Given the description of an element on the screen output the (x, y) to click on. 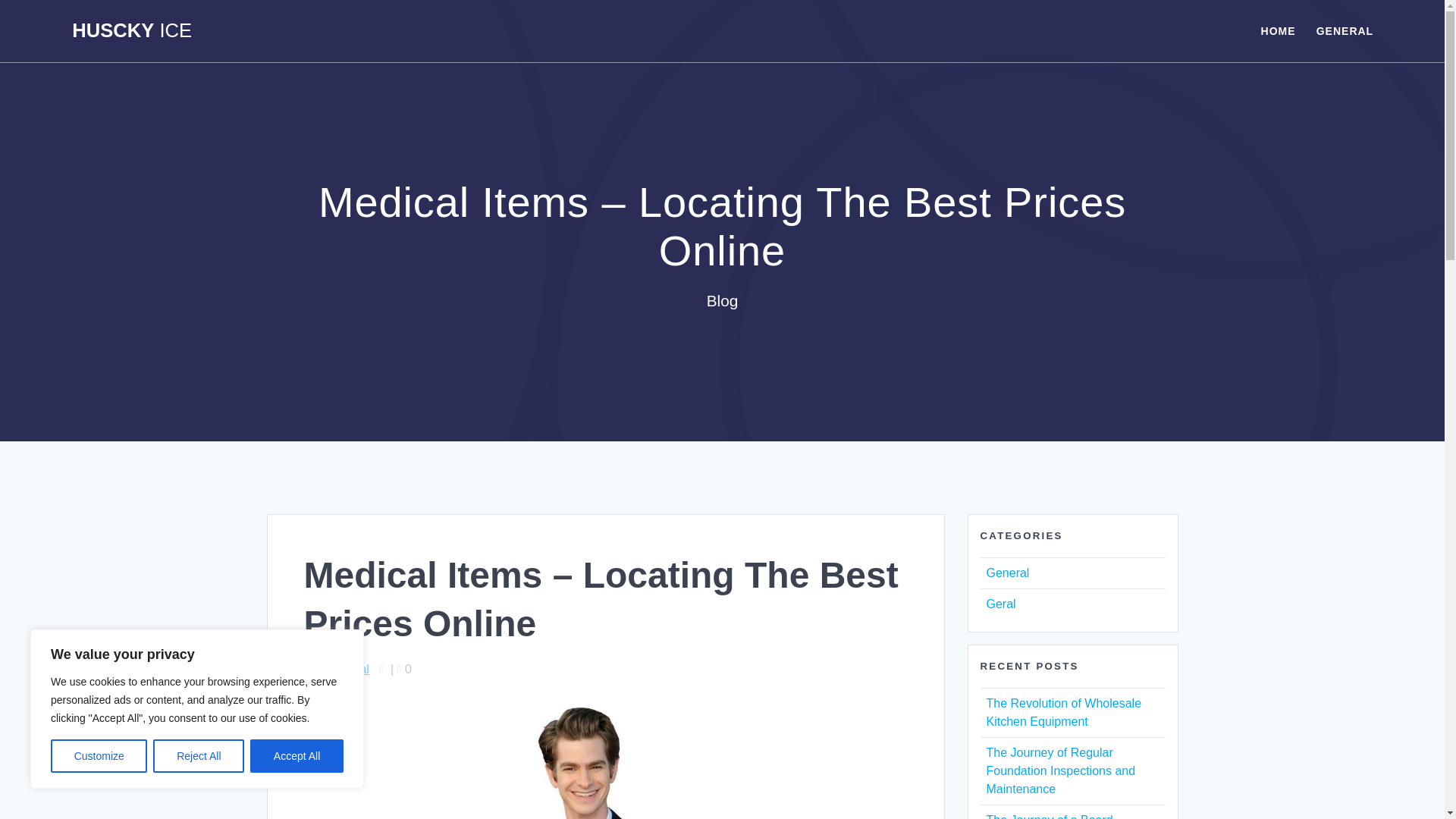
HUSCKY ICE (131, 30)
Customize (98, 756)
HOME (1277, 30)
GENERAL (1344, 30)
Accept All (296, 756)
Geral (999, 603)
Reject All (198, 756)
General (1007, 572)
